Given the description of an element on the screen output the (x, y) to click on. 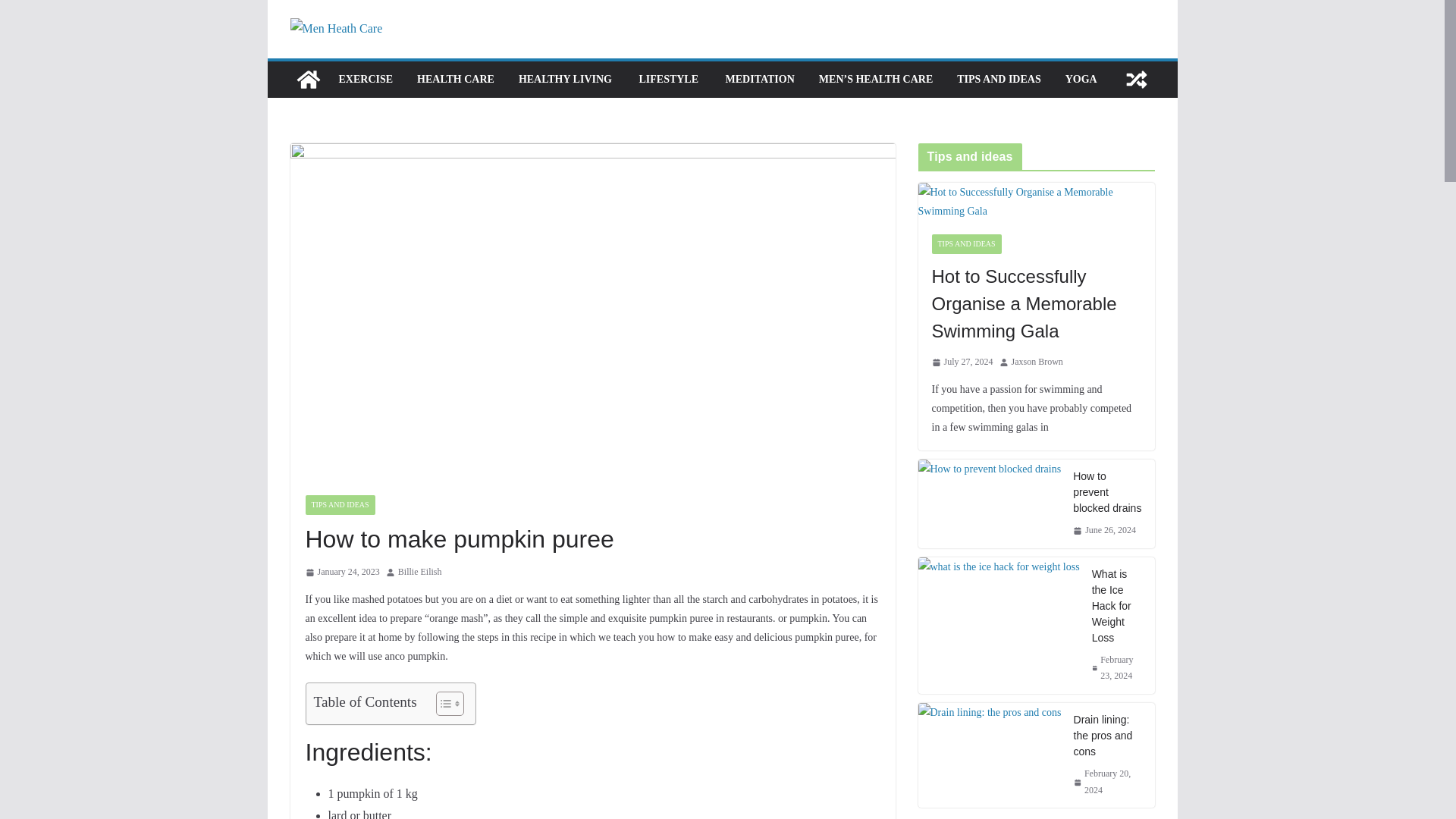
MEDITATION (759, 79)
Billie Eilish (419, 572)
YOGA (1081, 79)
TIPS AND IDEAS (998, 79)
HEALTHY LIVING  (566, 79)
January 24, 2023 (341, 572)
Billie Eilish (419, 572)
View a random post (1136, 79)
LIFESTYLE  (669, 79)
5:29 am (341, 572)
